Given the description of an element on the screen output the (x, y) to click on. 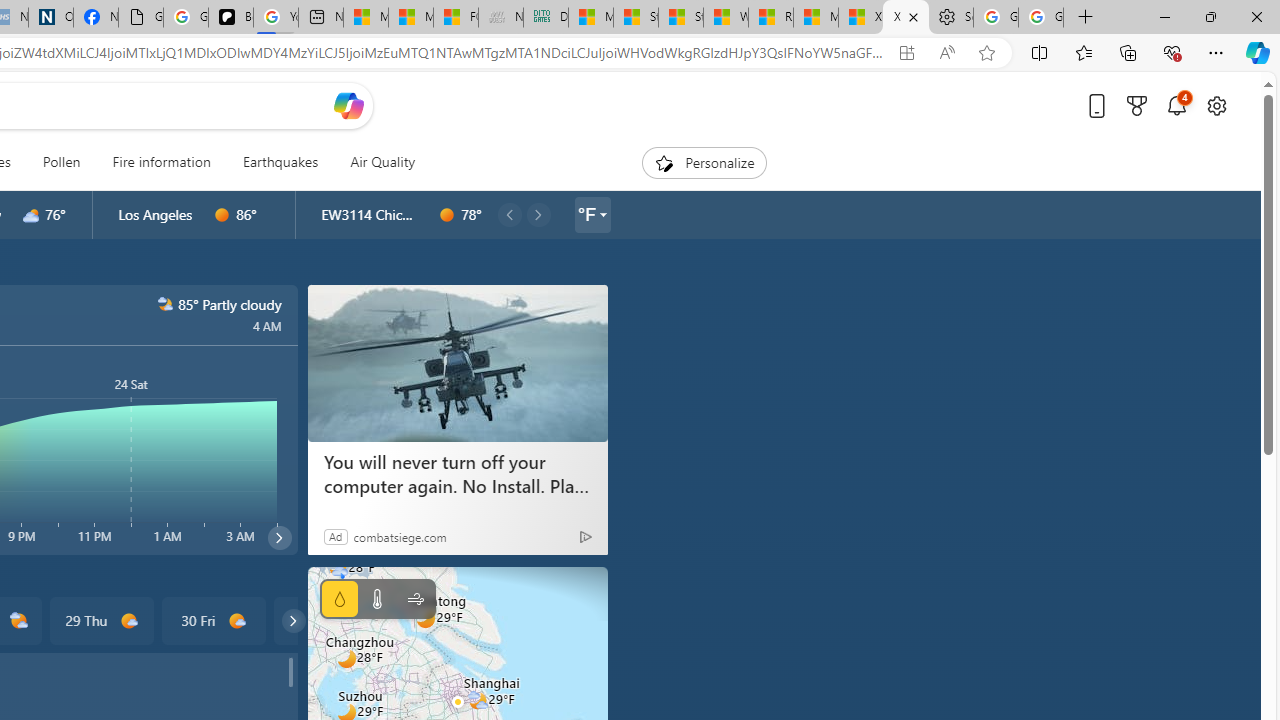
Wind (414, 599)
Earthquakes (280, 162)
common/carouselChevron (293, 620)
